Given the description of an element on the screen output the (x, y) to click on. 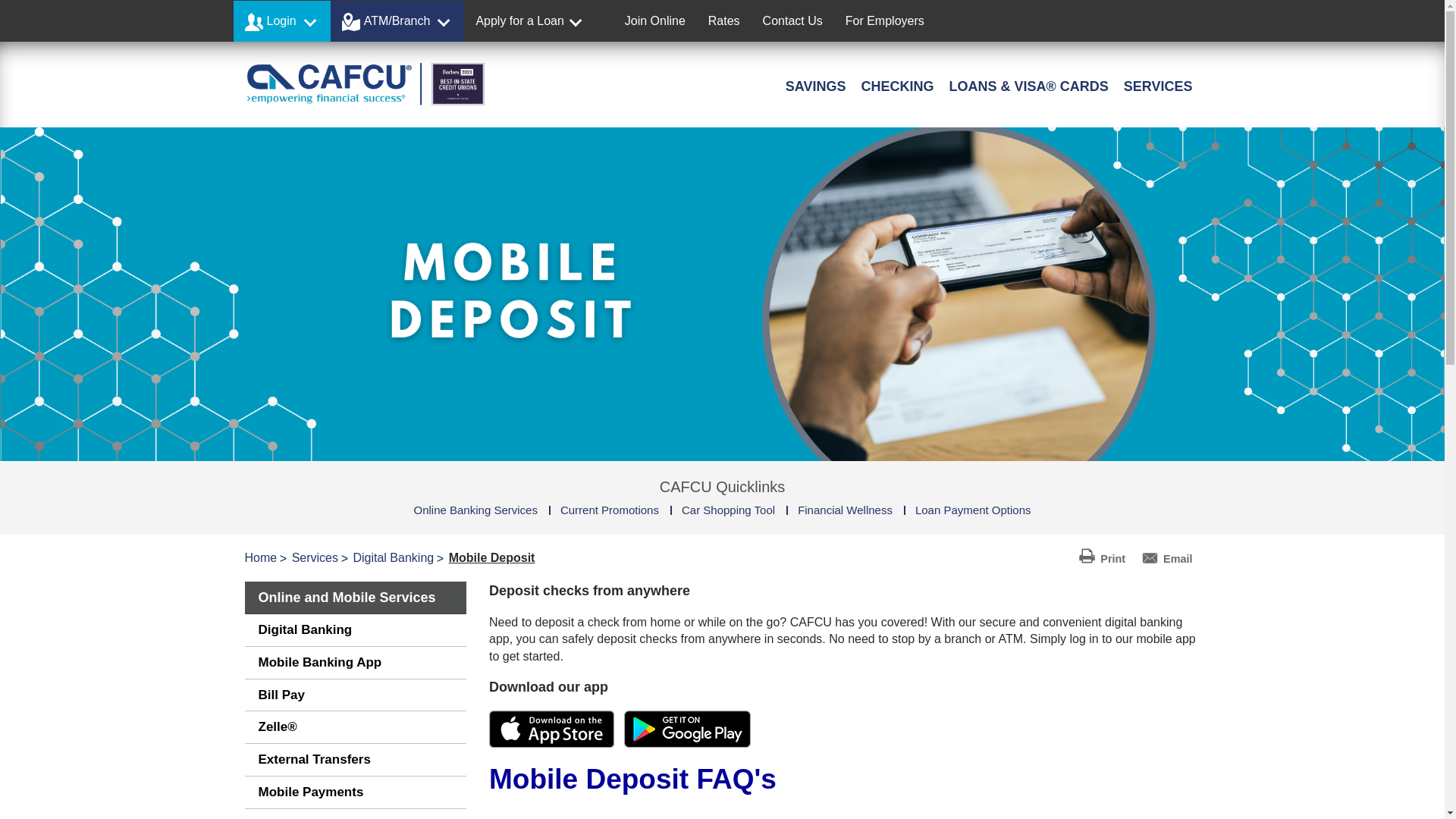
Rates (724, 20)
Join Online (654, 20)
Print Page (1101, 555)
SAVINGS (815, 87)
Login (281, 20)
For Employers (885, 20)
Log In (424, 219)
Tell a friend (1166, 555)
google-play (687, 728)
Find (512, 205)
apple-store (551, 728)
Apply for a Loan (525, 20)
Contact Us (792, 20)
